Given the description of an element on the screen output the (x, y) to click on. 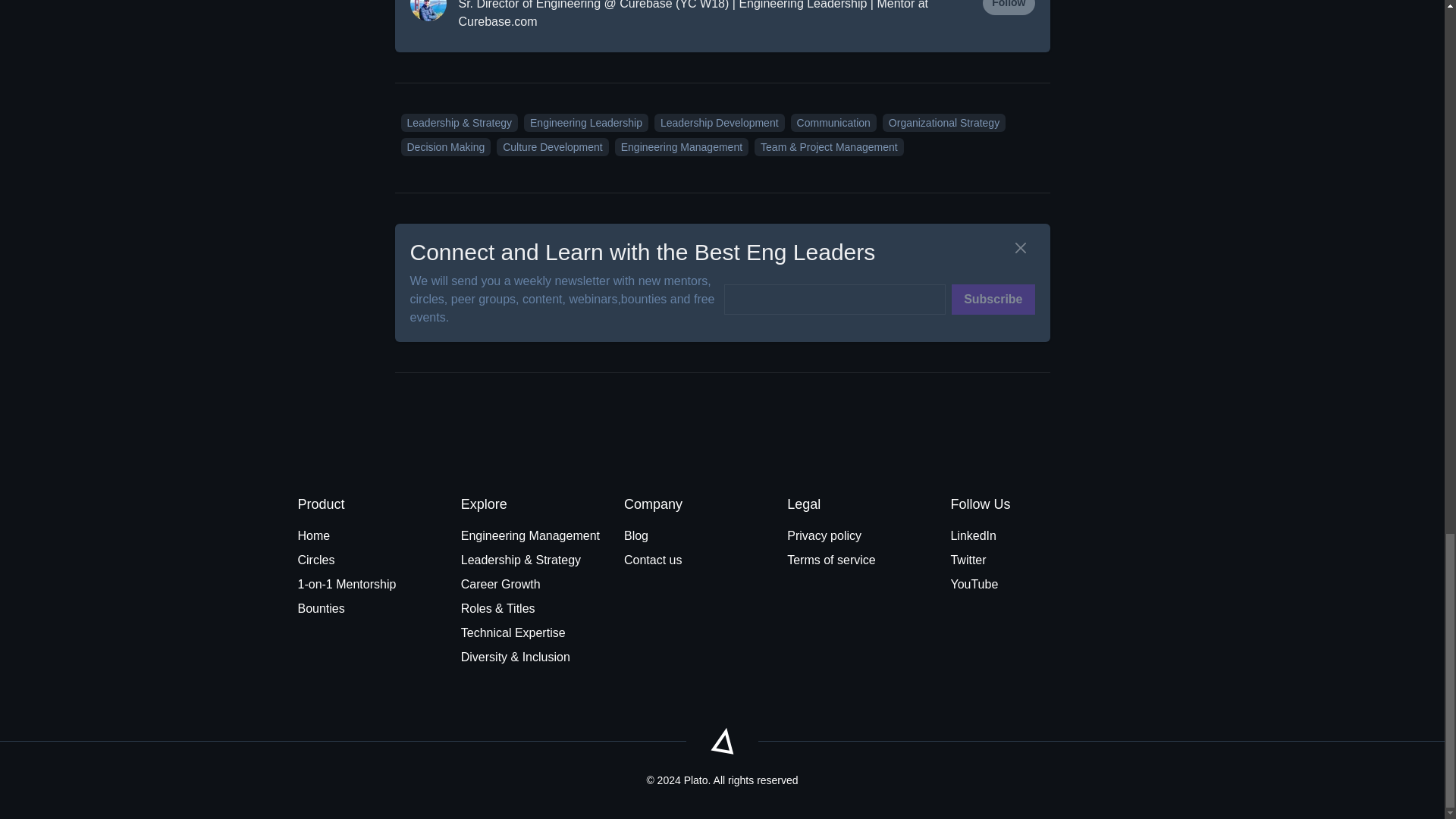
Communication (830, 122)
Culture Development (549, 146)
Organizational Strategy (941, 122)
Engineering Management (678, 146)
Engineering Leadership (582, 122)
Decision Making (442, 146)
Follow (1007, 7)
Leadership Development (715, 122)
